Given the description of an element on the screen output the (x, y) to click on. 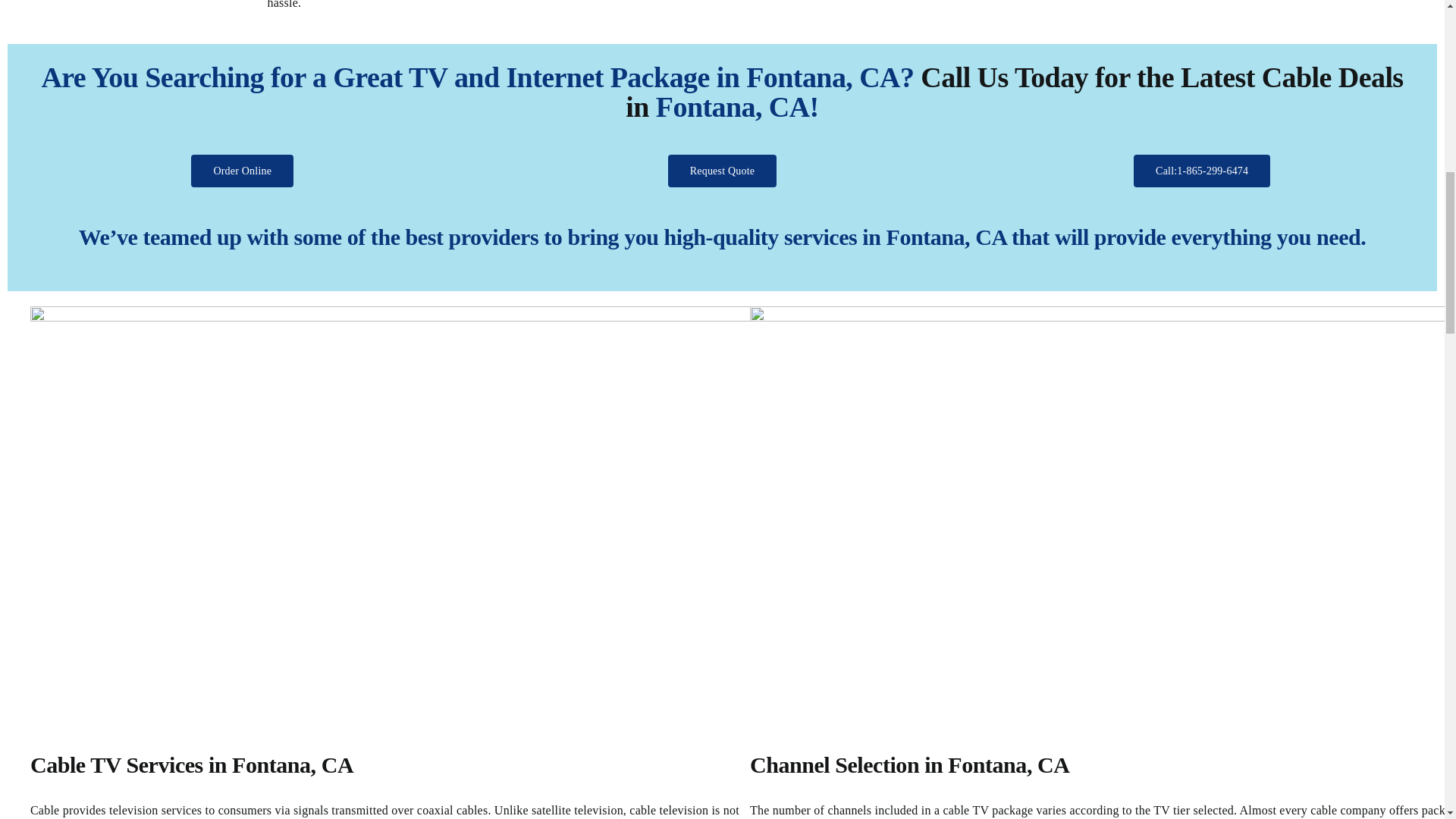
Call:1-865-299-6474 (1201, 170)
Call Us Today for the Latest Cable Deals in (1014, 92)
TV Internet Phone (1055, 11)
Request Quote (722, 170)
Order Online (242, 170)
